Given the description of an element on the screen output the (x, y) to click on. 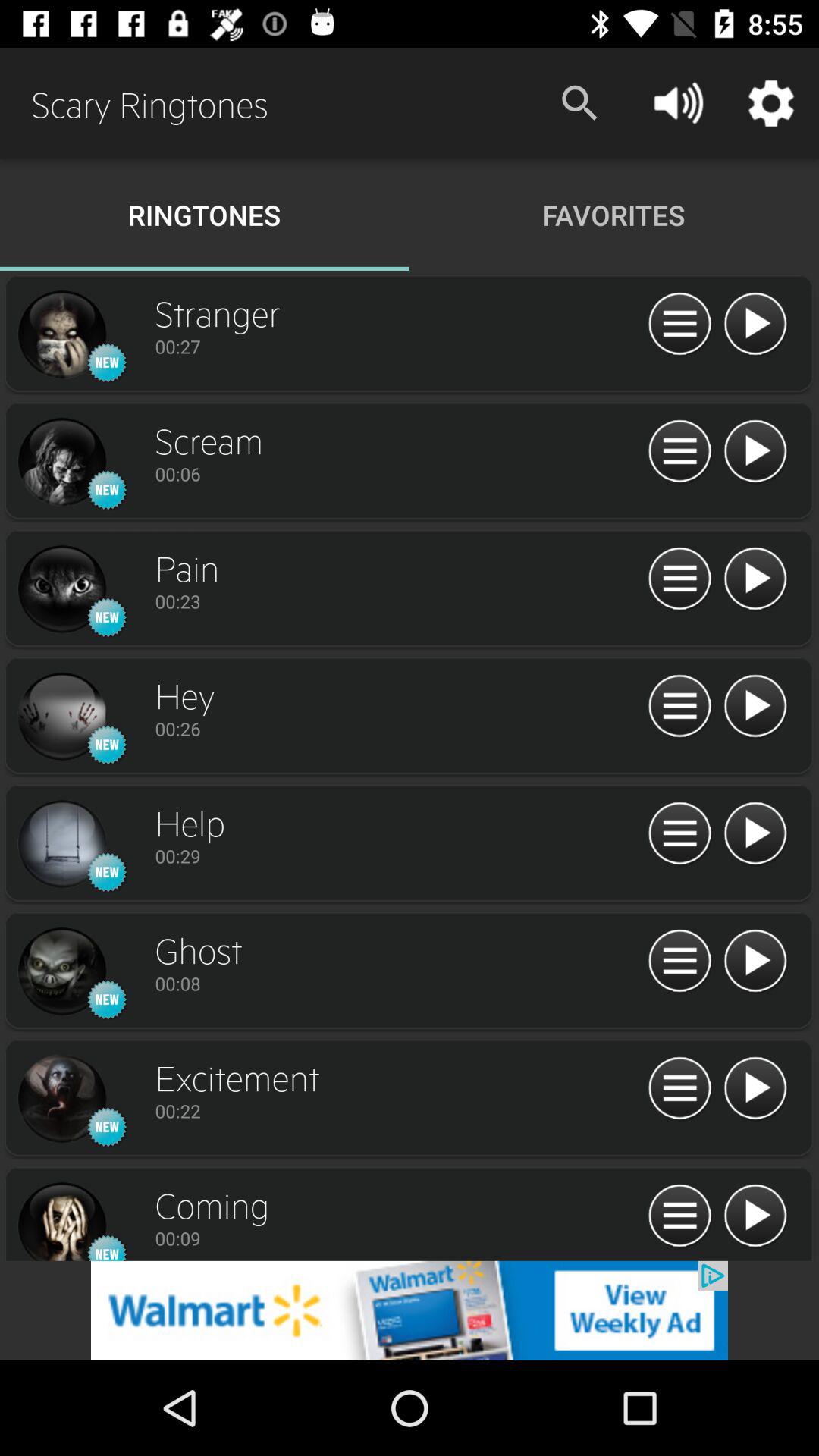
select menu (679, 706)
